Given the description of an element on the screen output the (x, y) to click on. 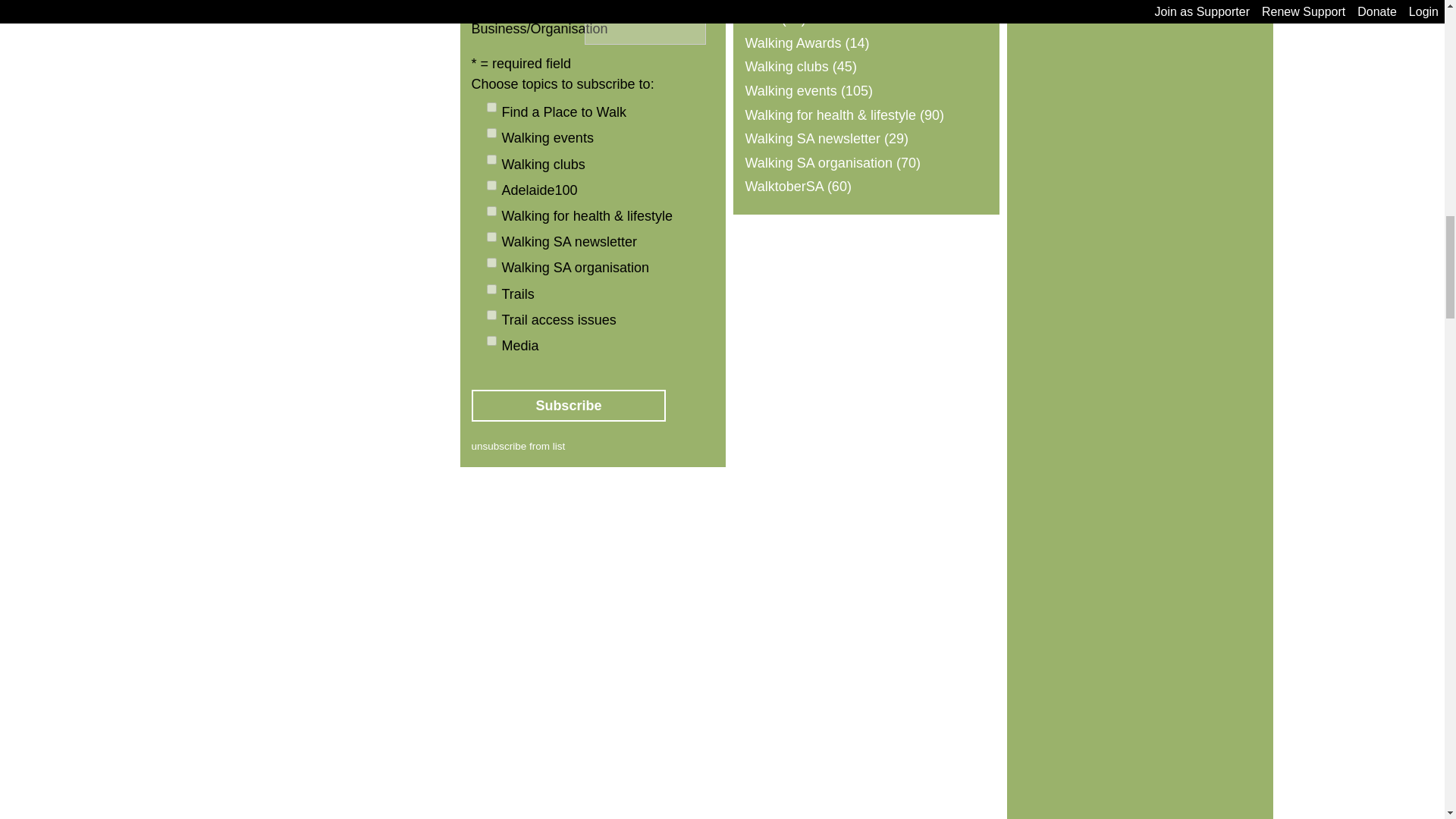
Find a Place to Walk (491, 107)
Trail access issues (491, 315)
Media (491, 340)
Adelaide100 (491, 185)
Walking SA organisation (491, 262)
Walking clubs (491, 159)
Walking events (491, 132)
Trails (491, 289)
Walking SA newsletter (491, 236)
Subscribe (568, 405)
